Given the description of an element on the screen output the (x, y) to click on. 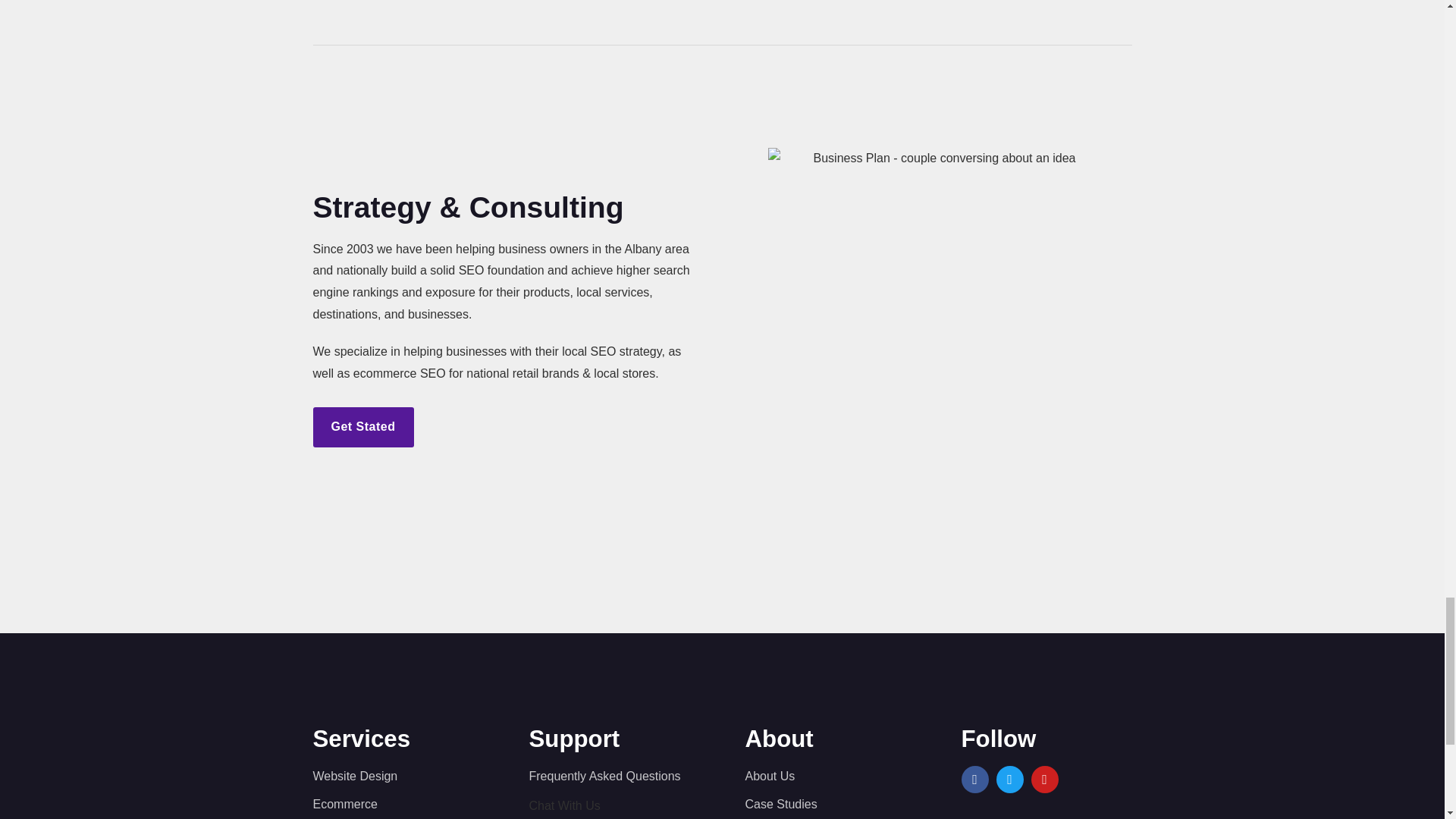
Frequently Asked Questions (614, 776)
Chat With Us (564, 805)
Ecommerce (398, 804)
Website Design (398, 776)
Get Stated (363, 427)
Case Studies (829, 804)
About Us (829, 776)
